Given the description of an element on the screen output the (x, y) to click on. 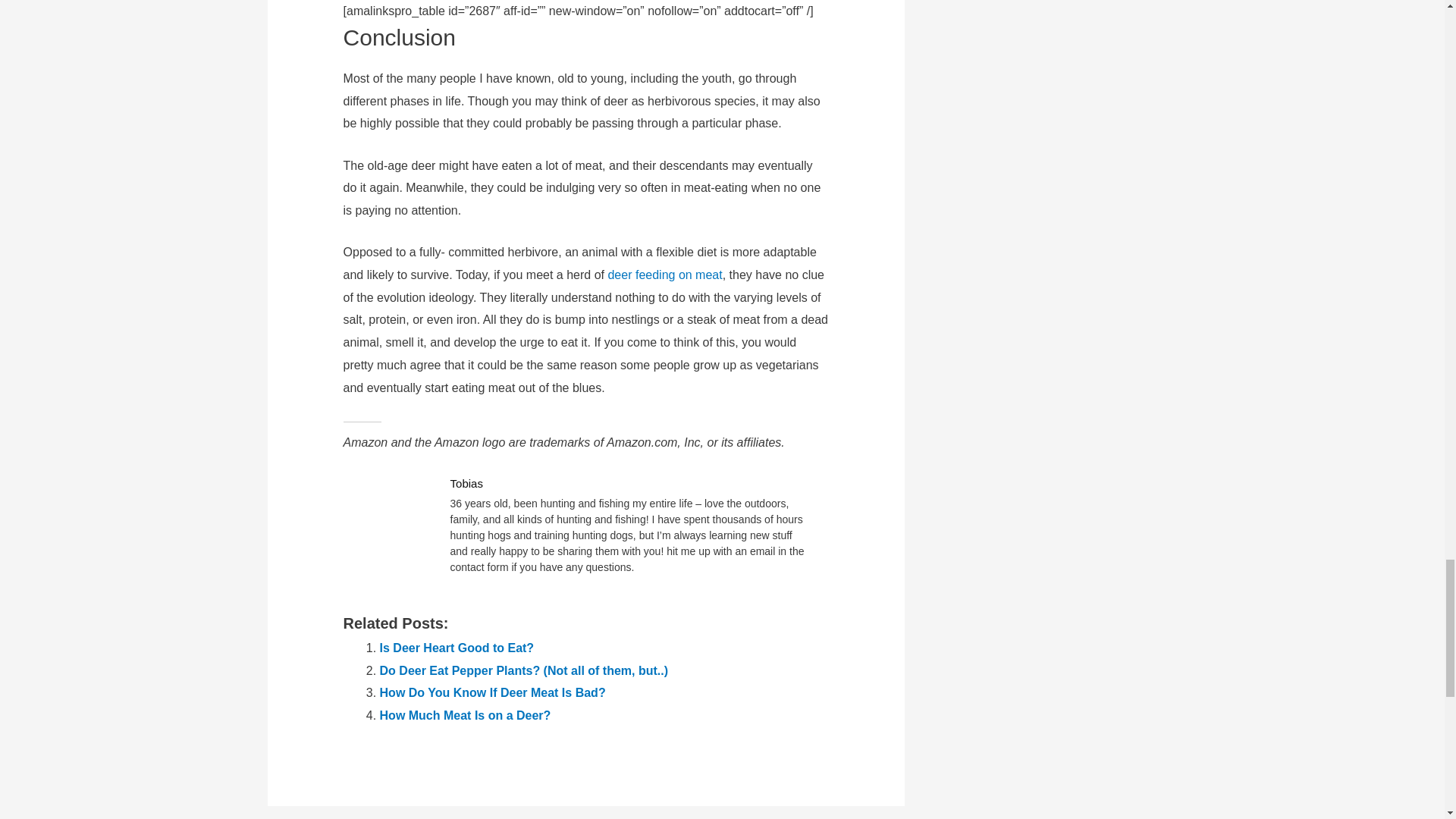
Is Deer Heart Good to Eat? (457, 647)
How Much Meat Is on a Deer? (465, 715)
deer feeding on meat (664, 274)
Tobias (466, 482)
How Do You Know If Deer Meat Is Bad? (492, 692)
Is Deer Heart Good to Eat? (457, 647)
How Much Meat Is on a Deer? (465, 715)
How Do You Know If Deer Meat Is Bad? (492, 692)
